Given the description of an element on the screen output the (x, y) to click on. 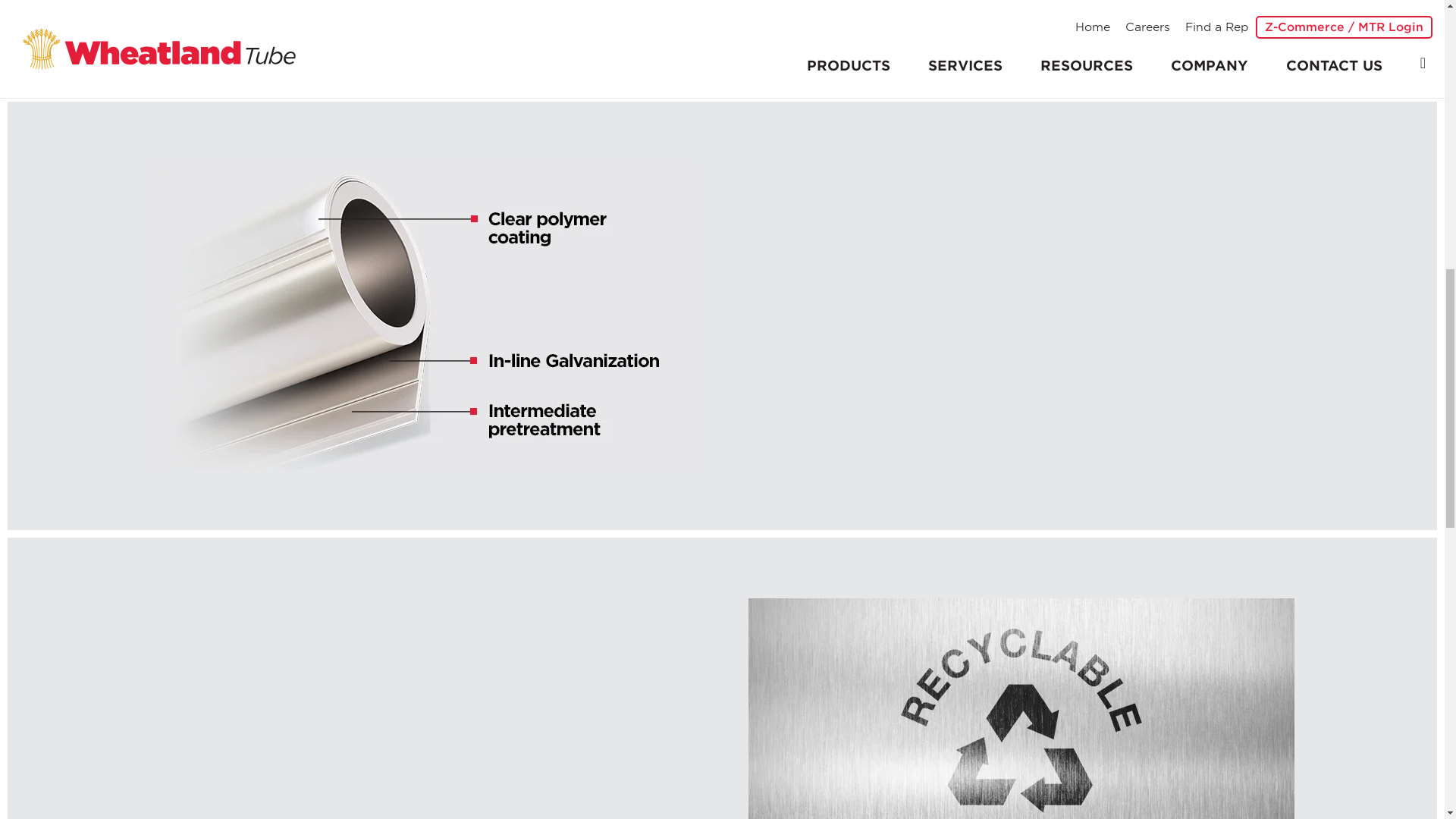
GET STARTED (1347, 45)
